Given the description of an element on the screen output the (x, y) to click on. 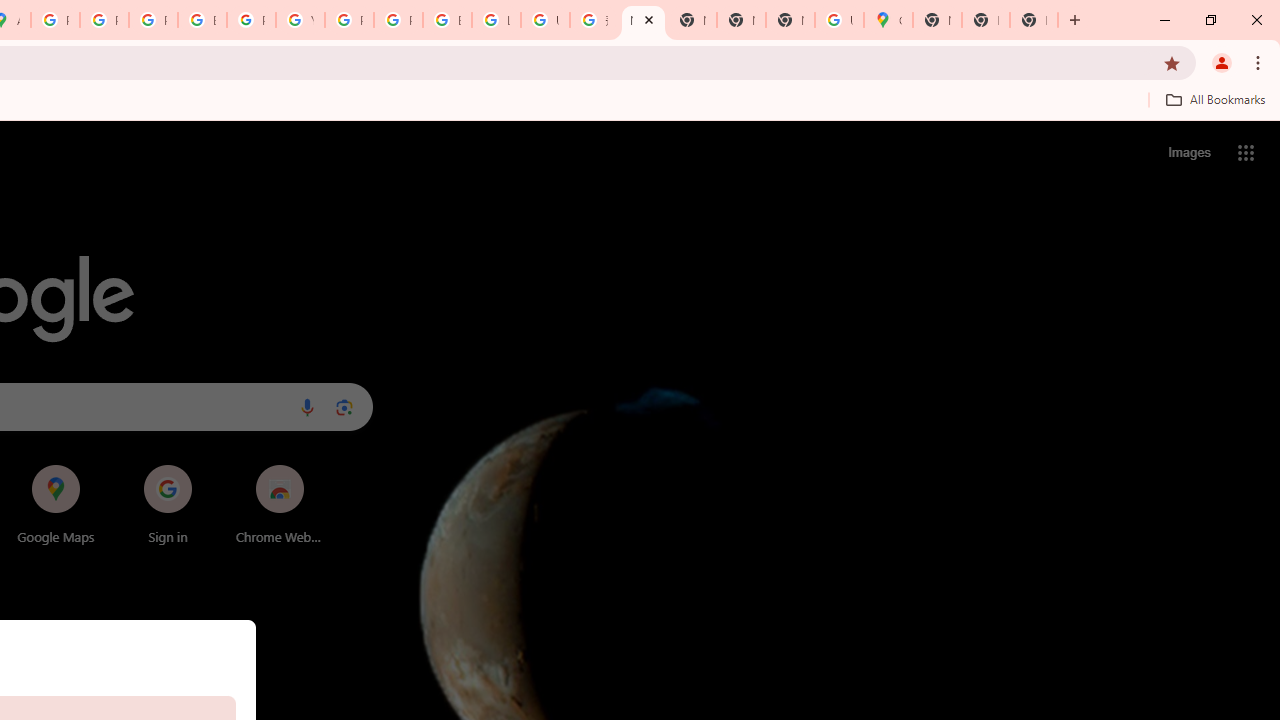
Privacy Help Center - Policies Help (104, 20)
Policy Accountability and Transparency - Transparency Center (55, 20)
New Tab (790, 20)
YouTube (300, 20)
